Given the description of an element on the screen output the (x, y) to click on. 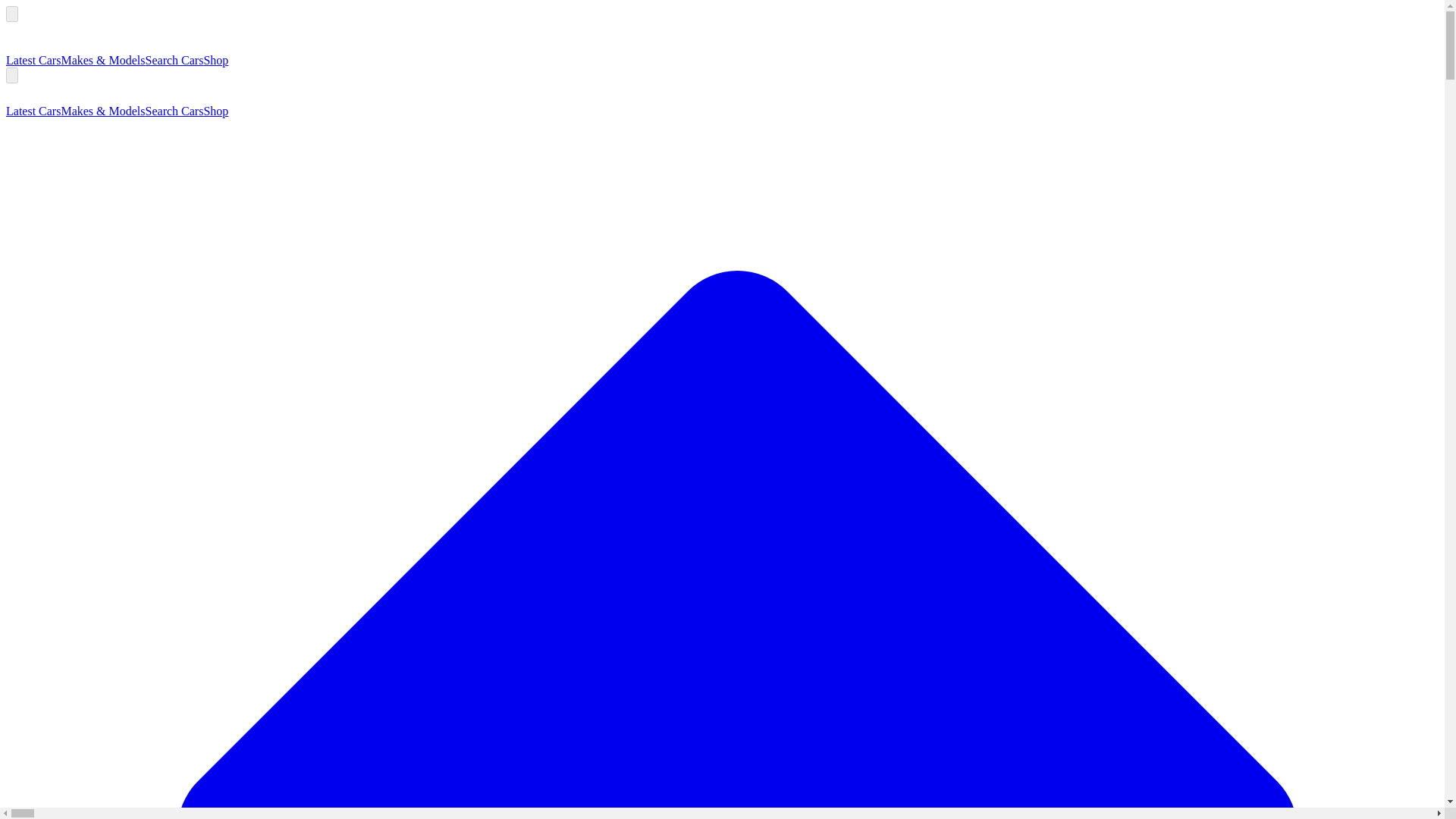
Shop (215, 60)
Search Cars (174, 60)
Search Cars (174, 110)
Shop (215, 110)
Latest Cars (33, 60)
Latest Cars (33, 110)
